Given the description of an element on the screen output the (x, y) to click on. 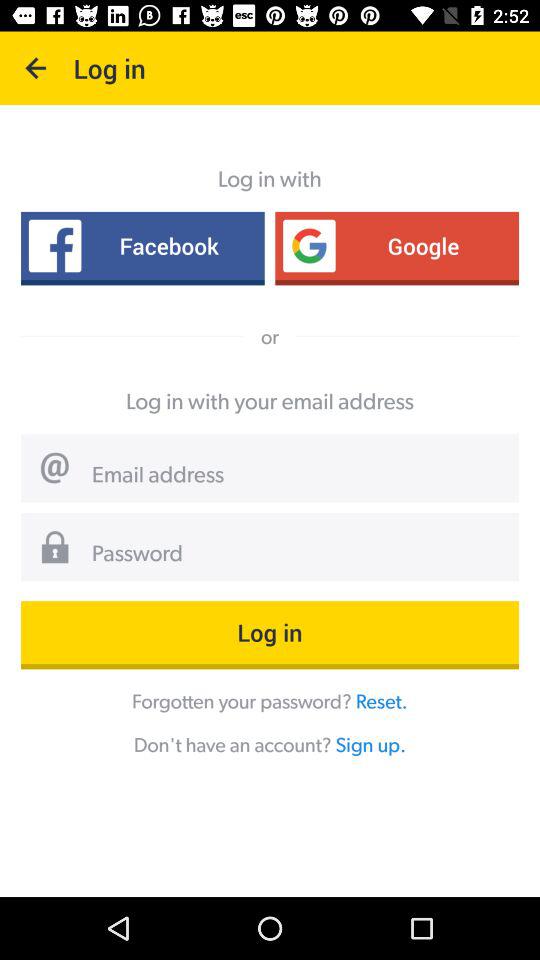
enter password (298, 554)
